Given the description of an element on the screen output the (x, y) to click on. 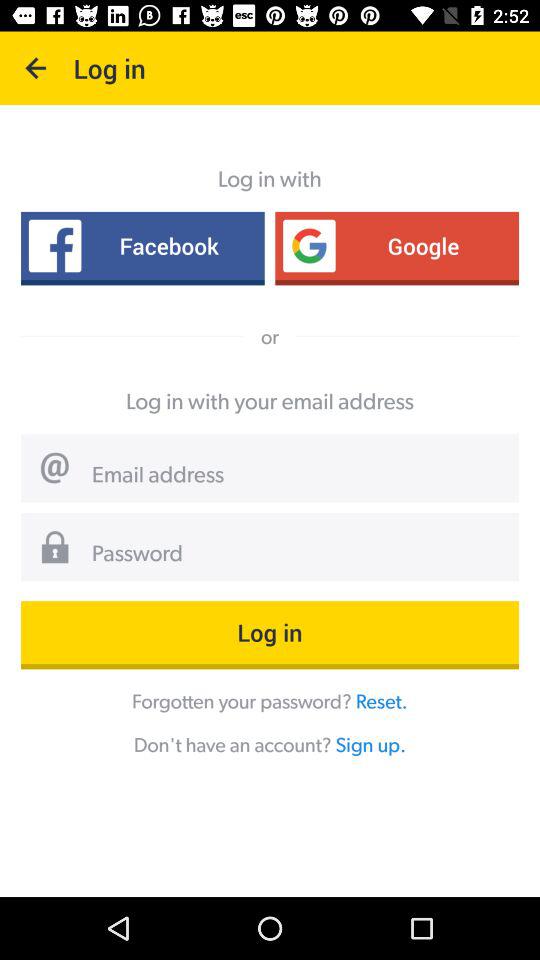
enter password (298, 554)
